Given the description of an element on the screen output the (x, y) to click on. 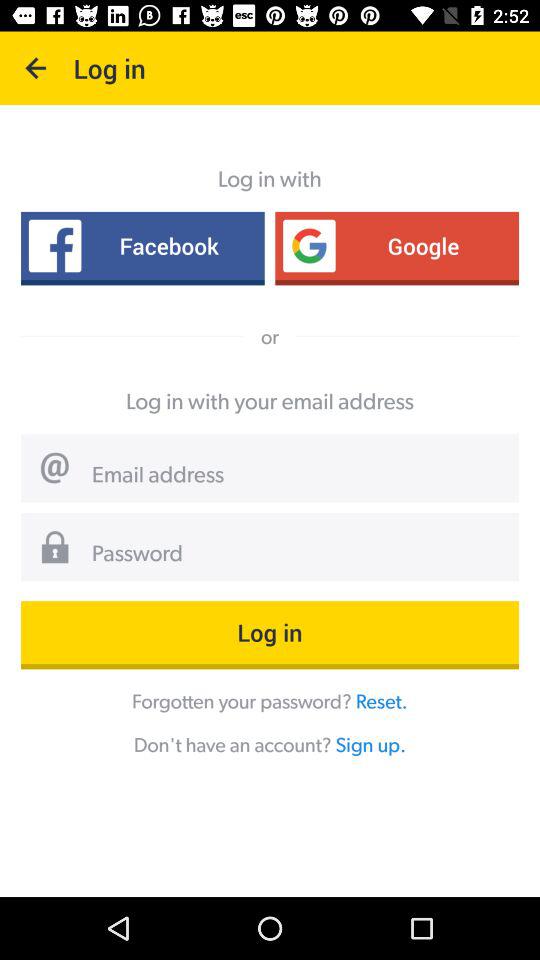
enter password (298, 554)
